Given the description of an element on the screen output the (x, y) to click on. 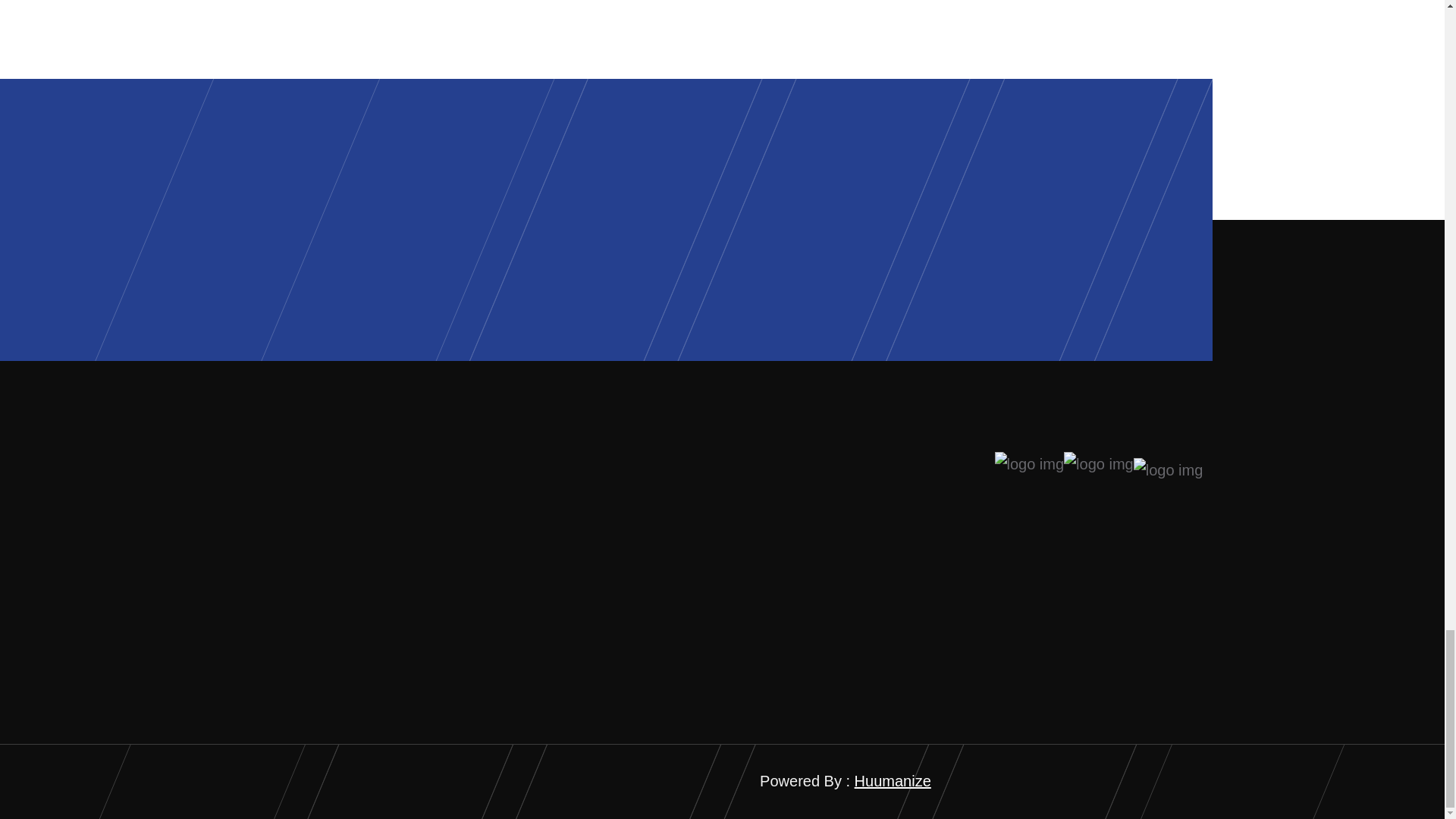
Huumanize (892, 781)
